Given the description of an element on the screen output the (x, y) to click on. 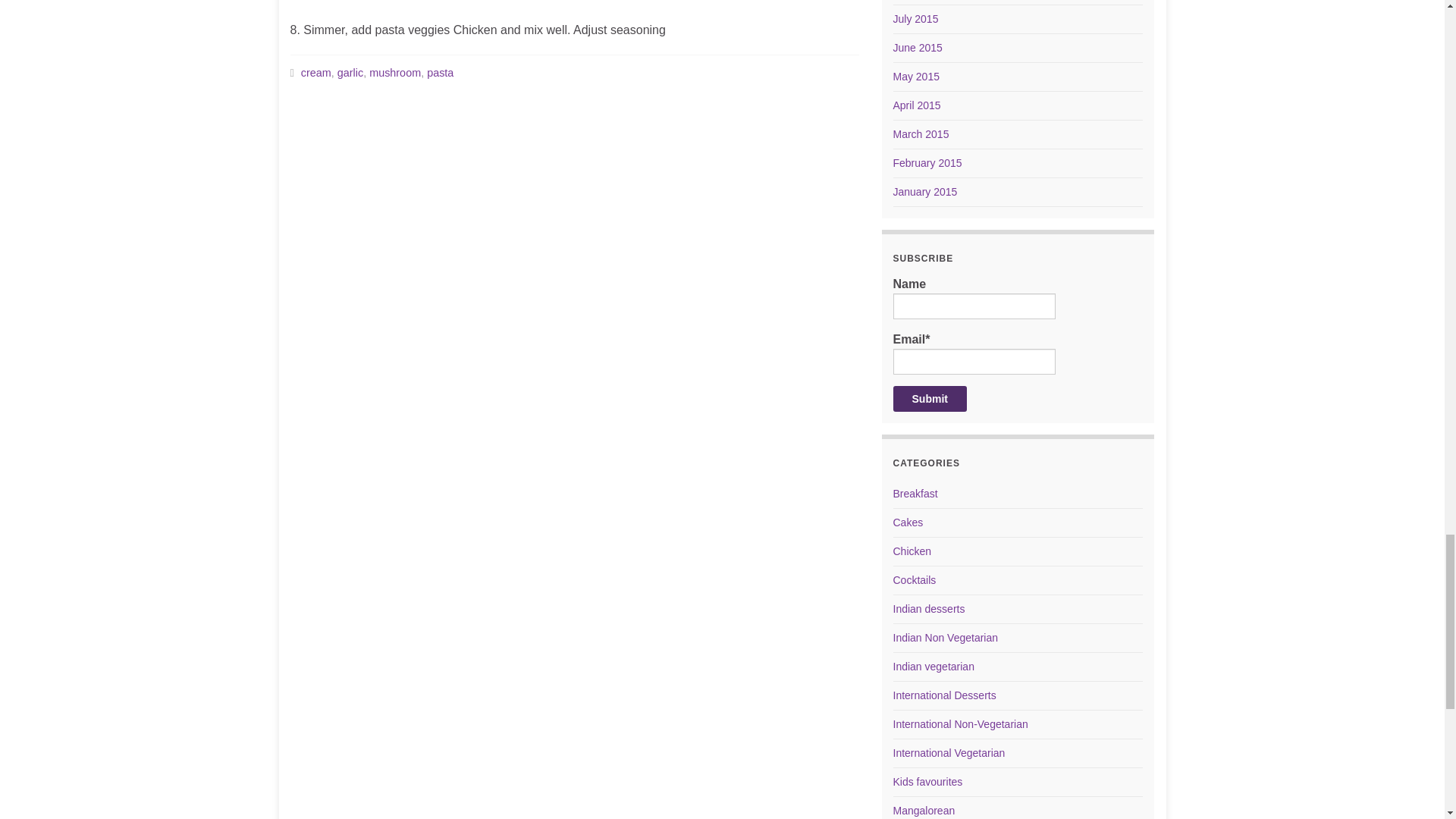
mushroom (394, 72)
garlic (349, 72)
cream (316, 72)
Submit (929, 397)
pasta (439, 72)
